Given the description of an element on the screen output the (x, y) to click on. 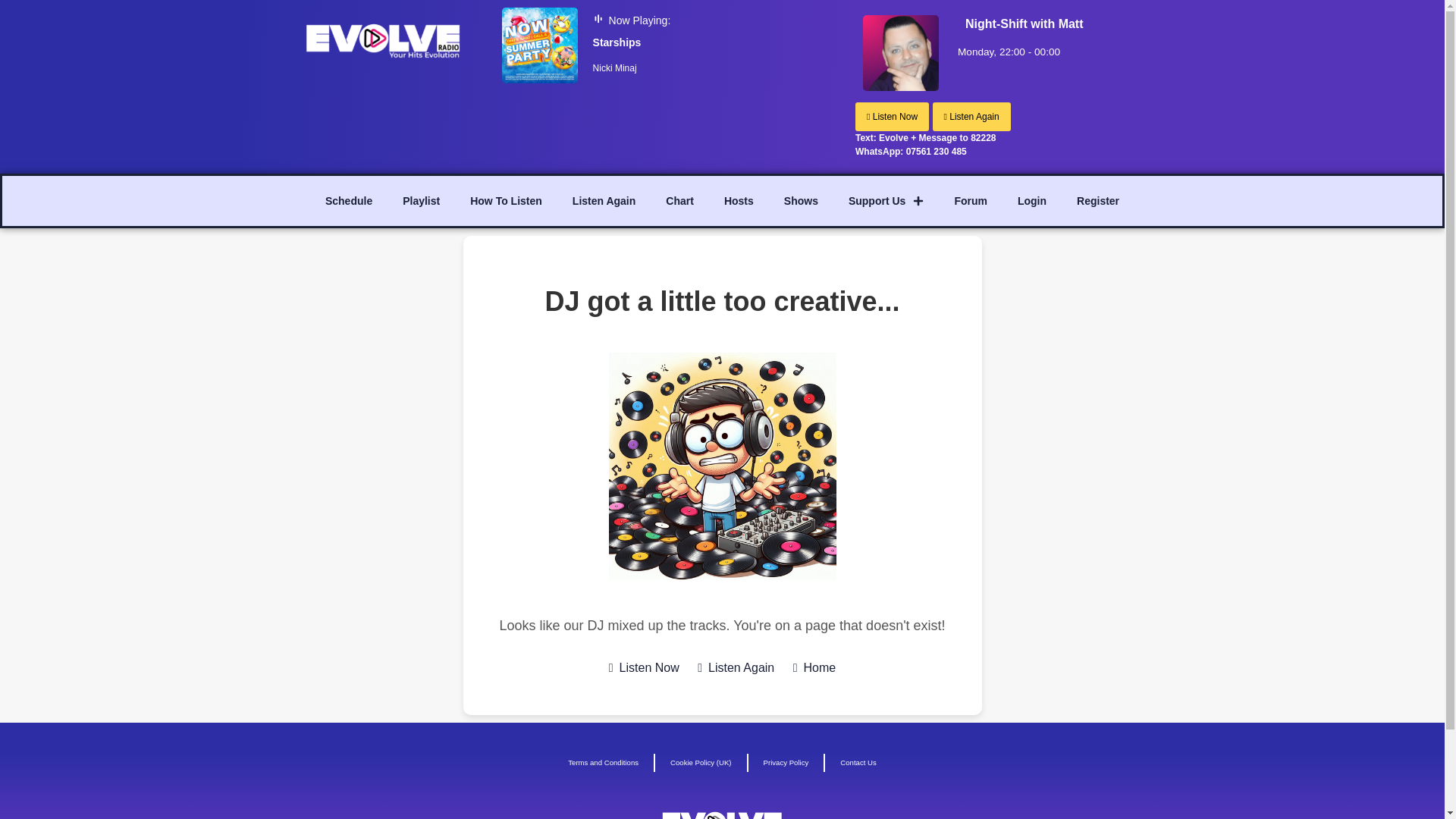
Home (814, 668)
Forum (971, 200)
How To Listen (505, 200)
Terms and Conditions (603, 762)
Listen Again (603, 200)
Playlist (420, 200)
Hosts (738, 200)
Shows (800, 200)
Listen Again (970, 116)
Night-Shift with Matt (1024, 24)
Listen Now (892, 116)
Privacy Policy (786, 762)
Support Us (885, 200)
Chart (679, 200)
Login (1032, 200)
